Given the description of an element on the screen output the (x, y) to click on. 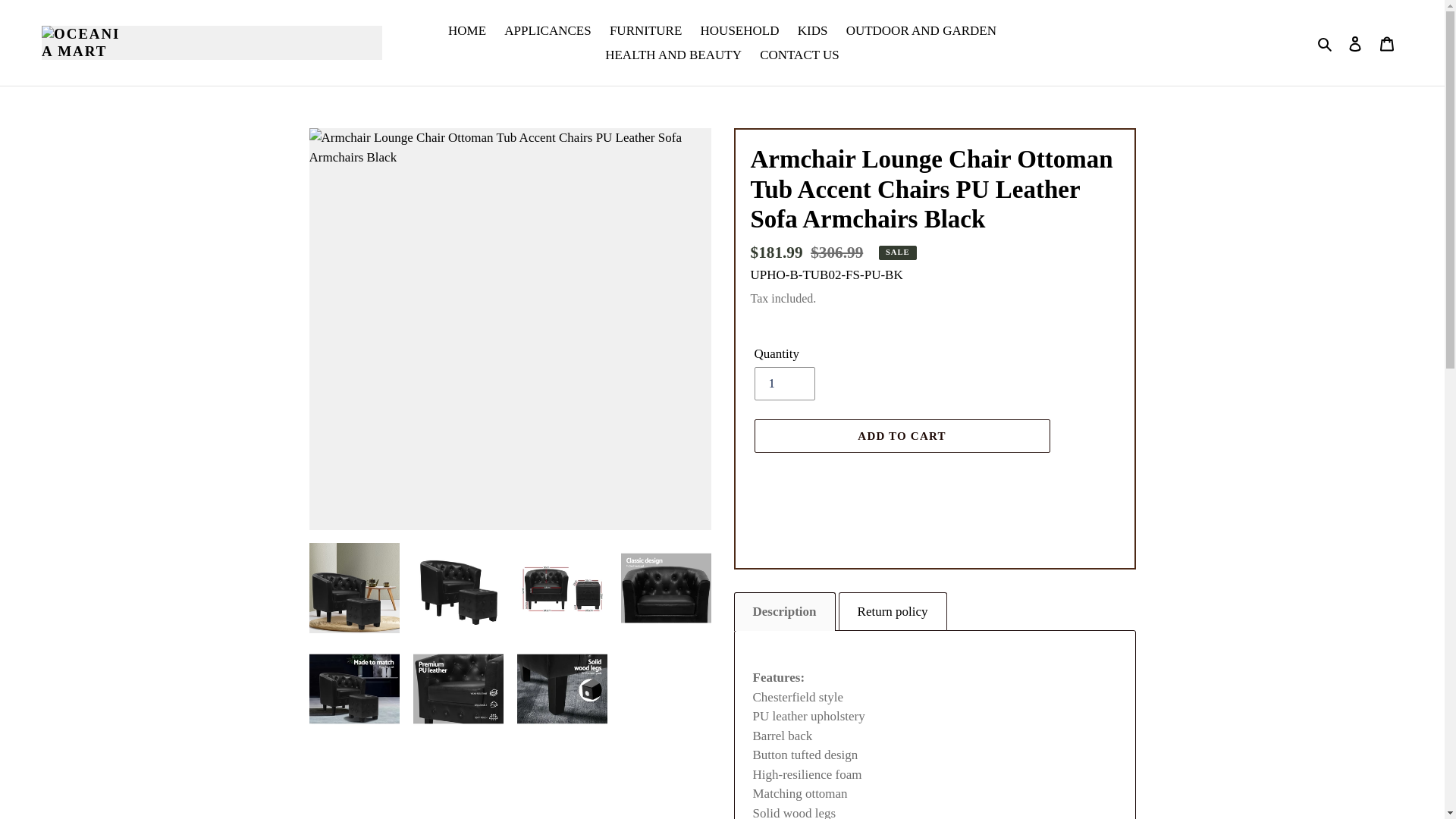
FURNITURE (645, 30)
HOME (467, 30)
CONTACT US (799, 54)
Search (1326, 43)
HOUSEHOLD (740, 30)
Description (784, 611)
ADD TO CART (901, 435)
OUTDOOR AND GARDEN (921, 30)
HEALTH AND BEAUTY (672, 54)
Cart (1387, 42)
